Given the description of an element on the screen output the (x, y) to click on. 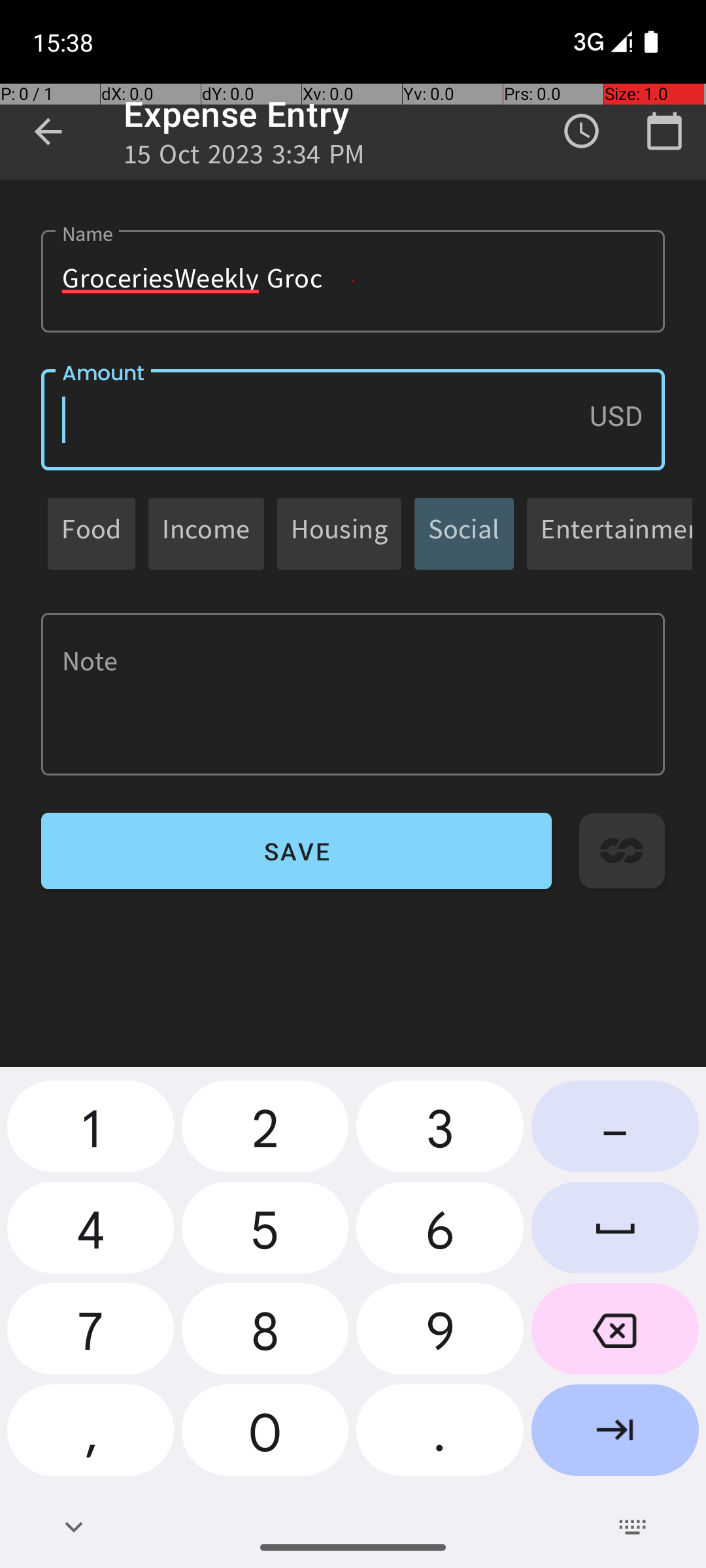
Expense Entry Element type: android.widget.TextView (236, 113)
15 Oct 2023 3:34 PM Element type: android.widget.TextView (244, 157)
Time Element type: android.widget.TextView (580, 131)
GroceriesWeekly Groc Element type: android.widget.EditText (352, 280)
SAVE Element type: android.widget.Button (296, 850)
Food Element type: android.widget.TextView (91, 533)
Income Element type: android.widget.TextView (206, 533)
Housing Element type: android.widget.TextView (338, 533)
Social Element type: android.widget.TextView (464, 533)
Entertainment Element type: android.widget.TextView (616, 533)
Dash Element type: android.widget.FrameLayout (614, 1130)
Next Element type: android.widget.FrameLayout (614, 1434)
15:38 Element type: android.widget.TextView (64, 41)
